Given the description of an element on the screen output the (x, y) to click on. 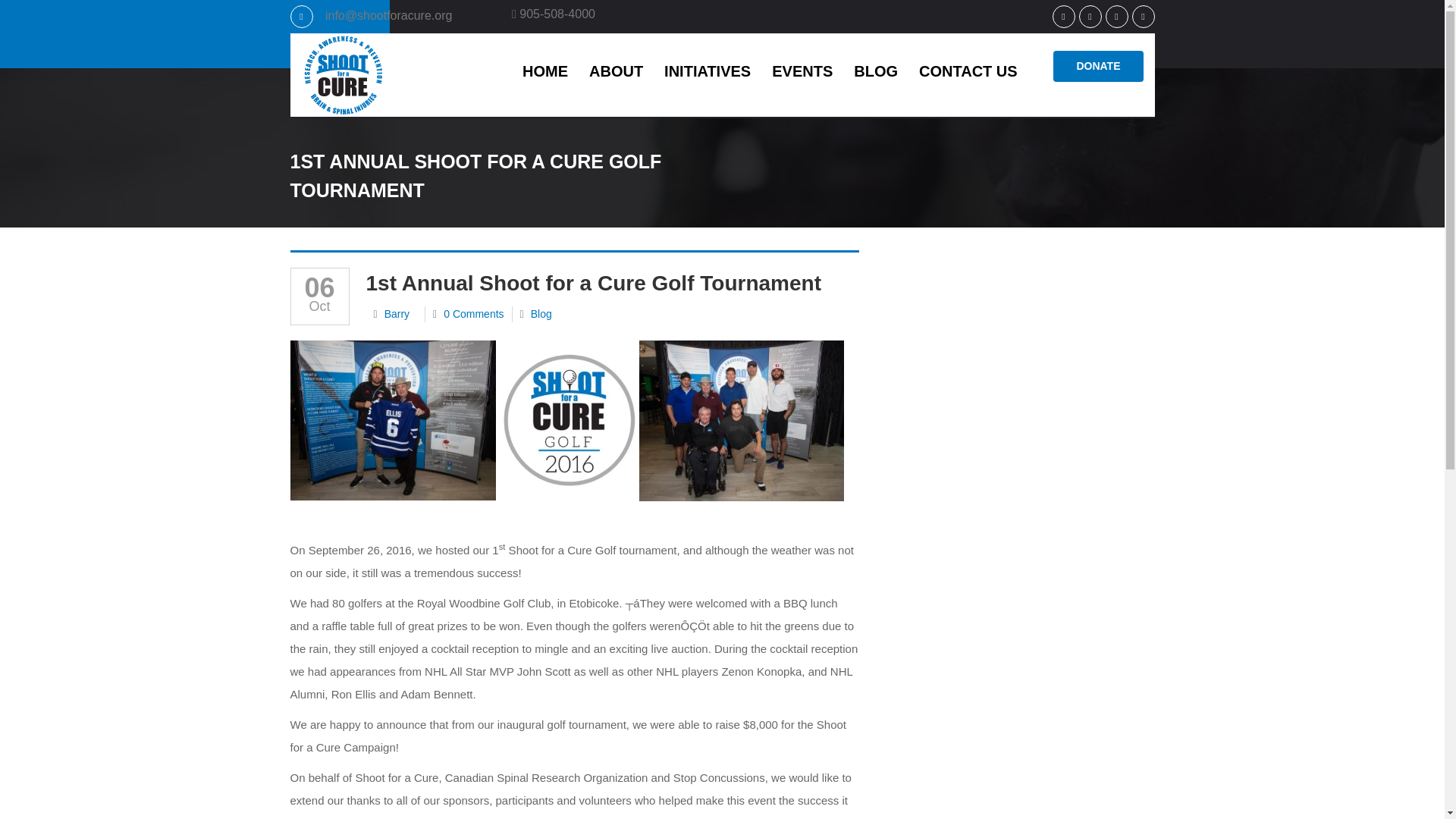
HOME (545, 69)
EVENTS (802, 69)
Barry (396, 313)
905-508-4000 (553, 13)
DONATE (1097, 65)
0 Comments (473, 313)
BLOG (875, 69)
INITIATIVES (707, 69)
CONTACT US (967, 69)
Blog (541, 313)
